Given the description of an element on the screen output the (x, y) to click on. 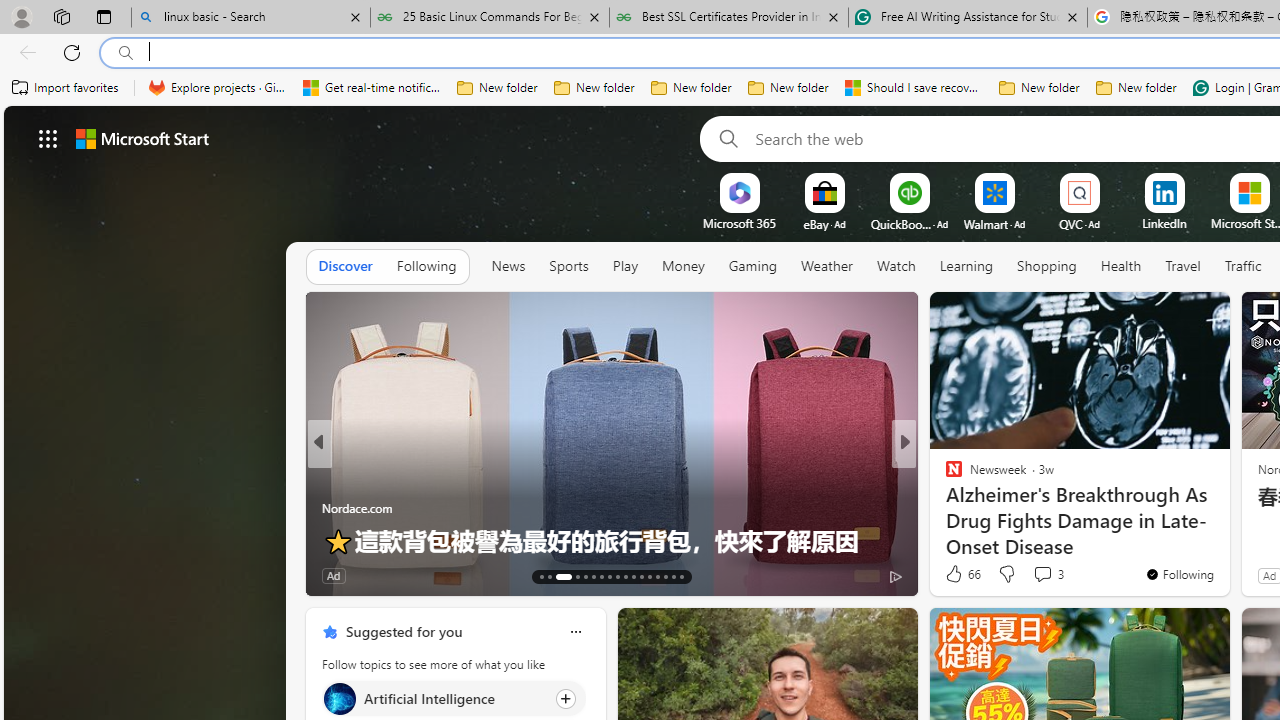
Class: control (47, 138)
Artificial Intelligence (338, 697)
Shopping (1046, 267)
Search icon (125, 53)
LinkedIn (1163, 223)
66 Like (961, 574)
AutomationID: tab-16 (571, 576)
tom's Hardware (944, 475)
The Weather Channel (944, 475)
AutomationID: tab-23 (632, 576)
Click to follow topic Artificial Intelligence (453, 698)
